Given the description of an element on the screen output the (x, y) to click on. 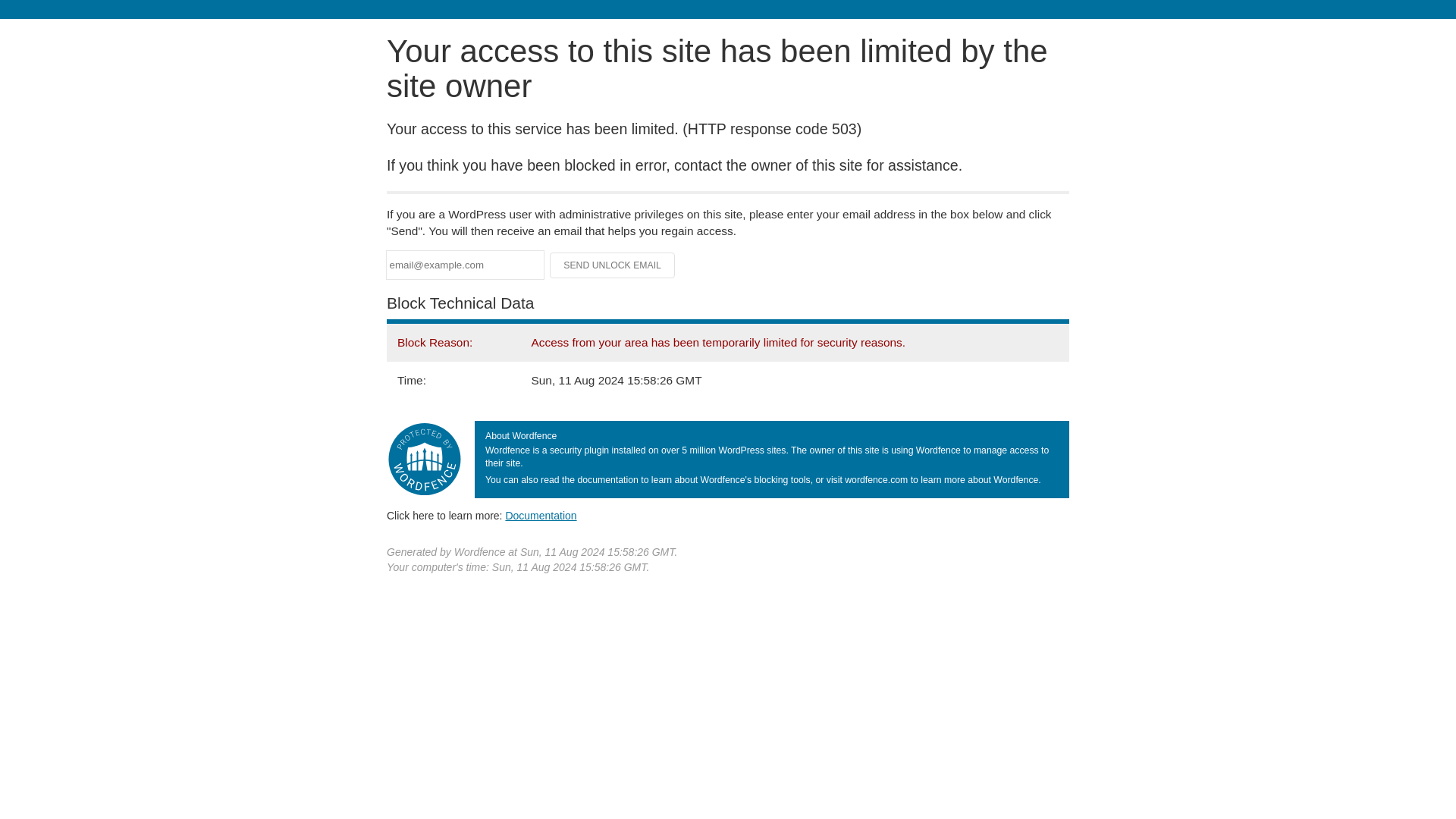
Send Unlock Email (612, 265)
Send Unlock Email (612, 265)
Documentation (540, 515)
